Given the description of an element on the screen output the (x, y) to click on. 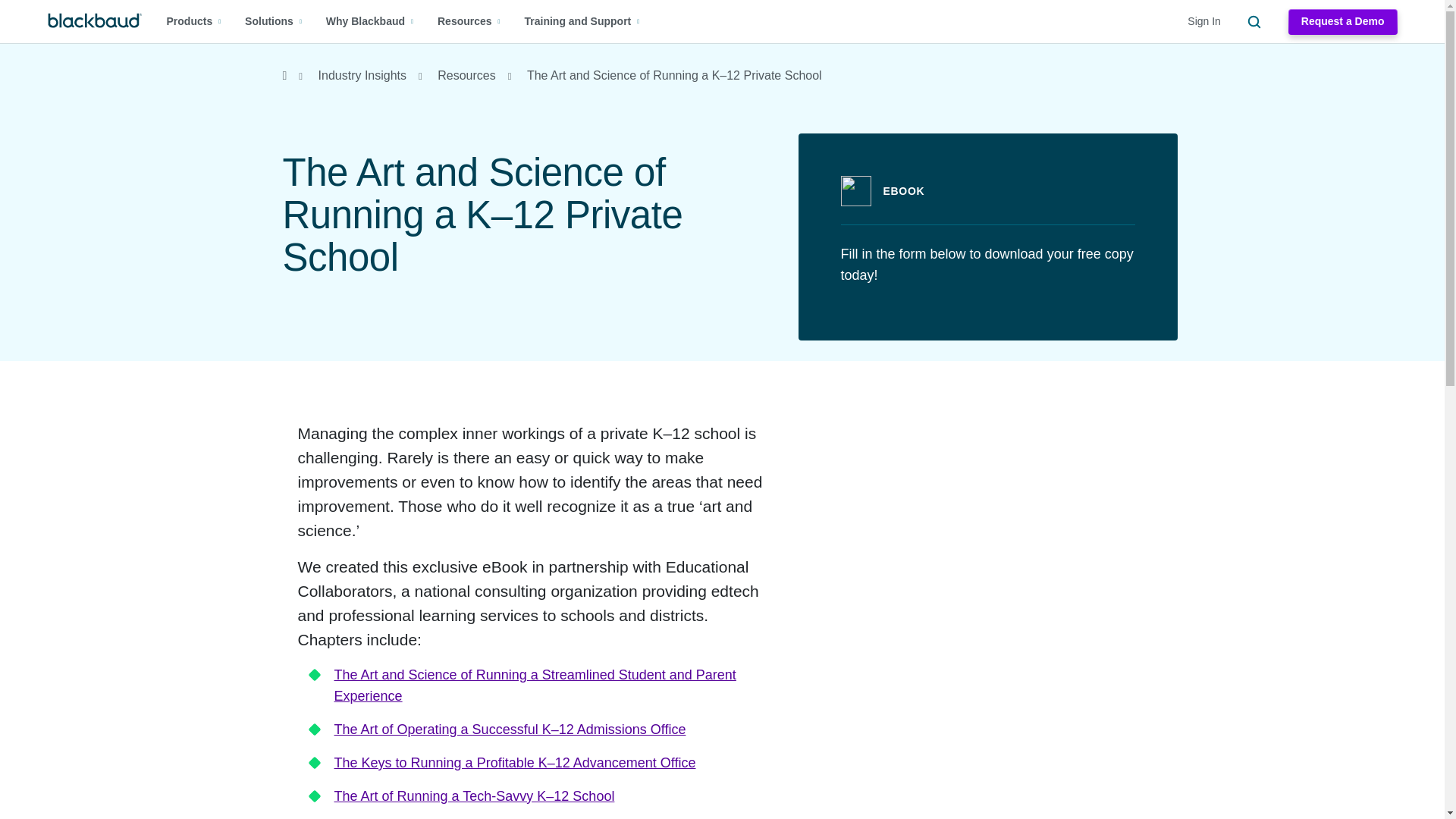
Why Blackbaud (369, 21)
Solutions (272, 21)
Products (194, 21)
